Given the description of an element on the screen output the (x, y) to click on. 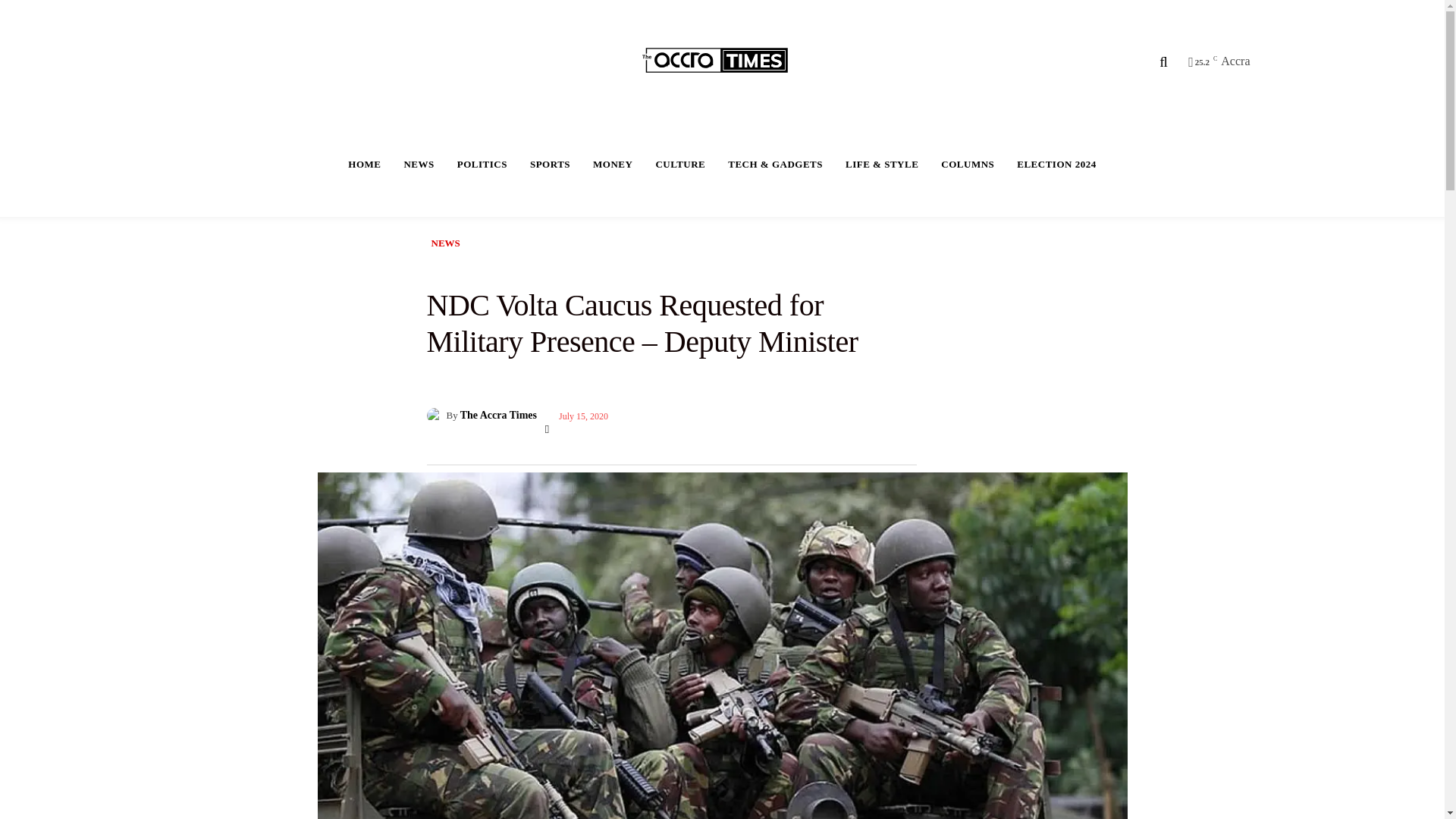
Breaking news from Ghana and around the world (724, 60)
HOME (364, 164)
The Accra Times (435, 415)
NEWS (418, 164)
